Given the description of an element on the screen output the (x, y) to click on. 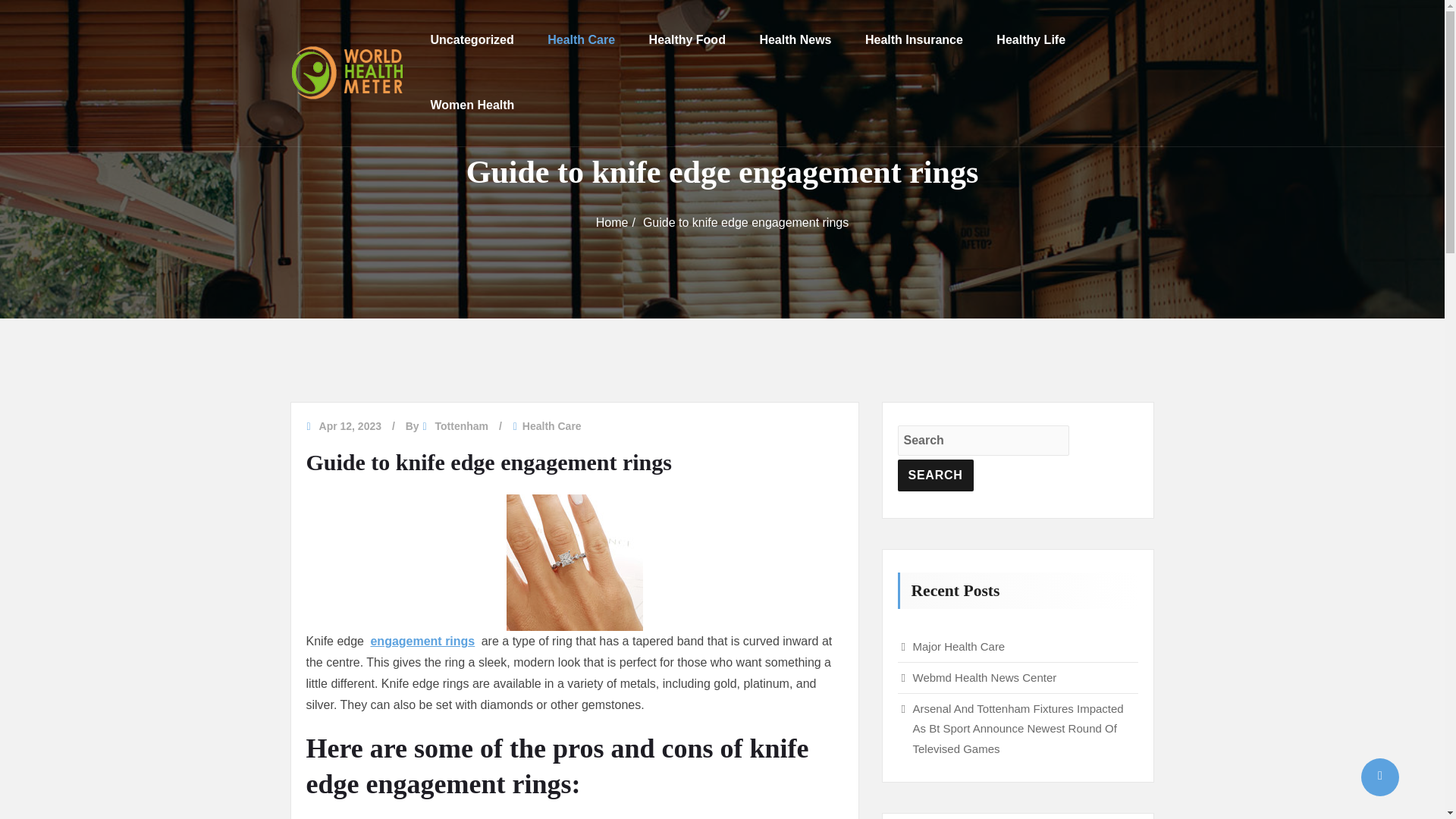
Uncategorized (471, 39)
Health Insurance (913, 39)
Health News (794, 39)
Search (936, 475)
Women Health (472, 104)
Home (611, 222)
Search (936, 475)
Health Care (580, 39)
Webmd Health News Center (984, 676)
